Given the description of an element on the screen output the (x, y) to click on. 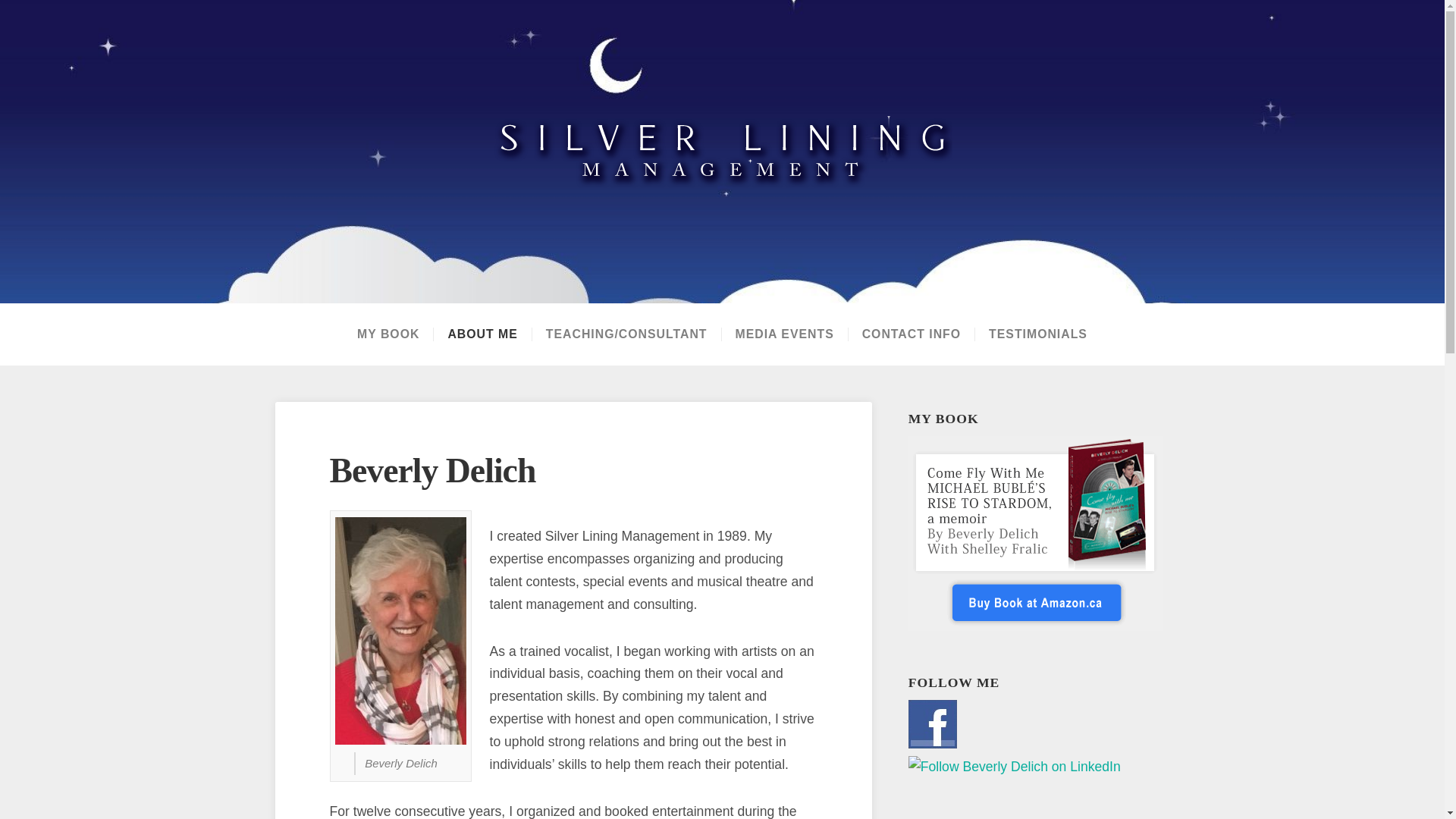
Follow Beverly Delich on Facebook (932, 724)
CONTACT INFO (910, 334)
MY BOOK (387, 334)
TESTIMONIALS (1037, 334)
MEDIA EVENTS (783, 334)
Beverly Delich - Michael Bubles Rise To Stardom a memoir (1034, 532)
ABOUT ME (481, 334)
Follow Beverly Delich on LinkedIn (1014, 766)
Beverly Delich and Michael Buble (387, 334)
